Given the description of an element on the screen output the (x, y) to click on. 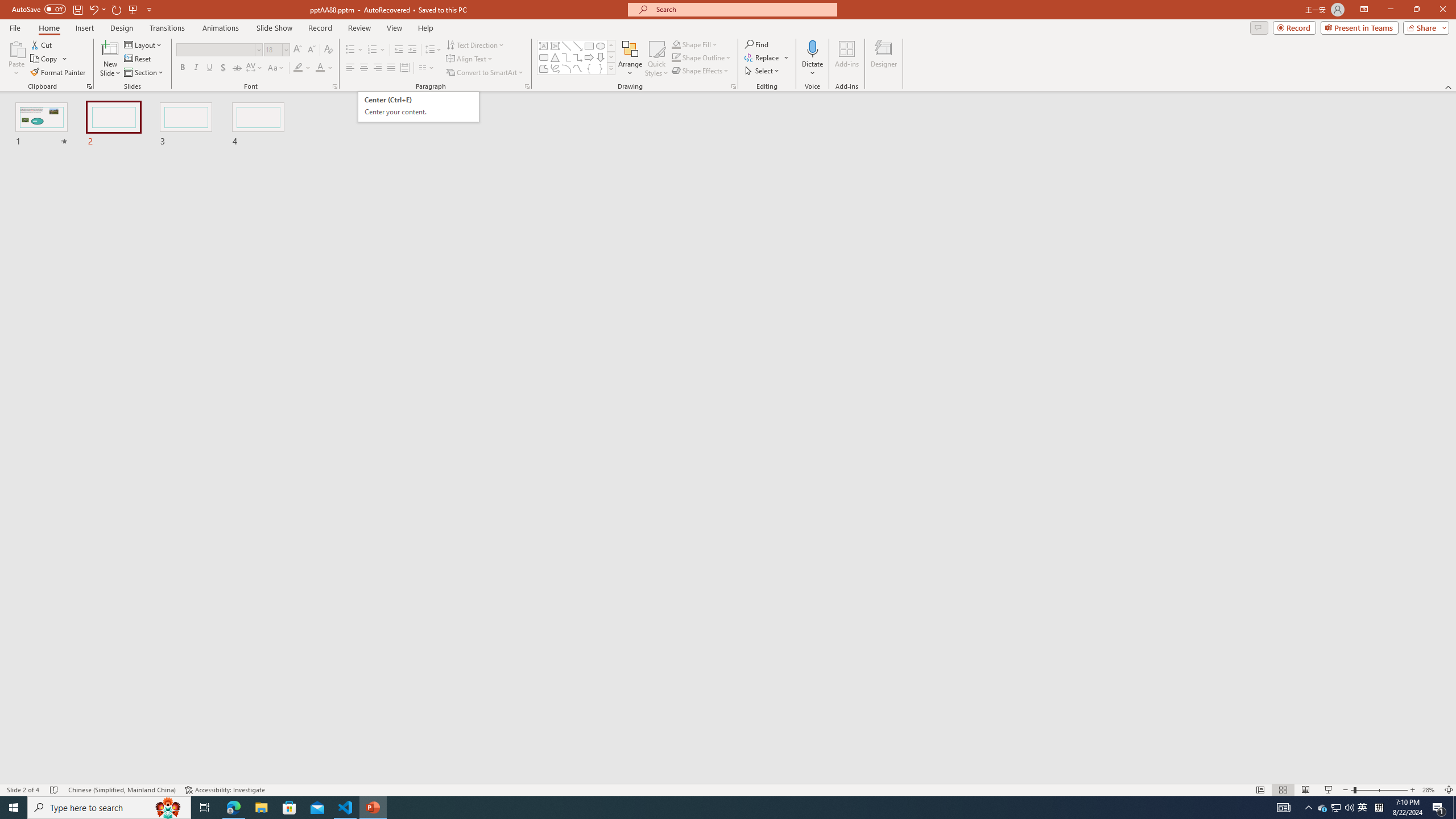
Zoom 28% (1430, 790)
